Given the description of an element on the screen output the (x, y) to click on. 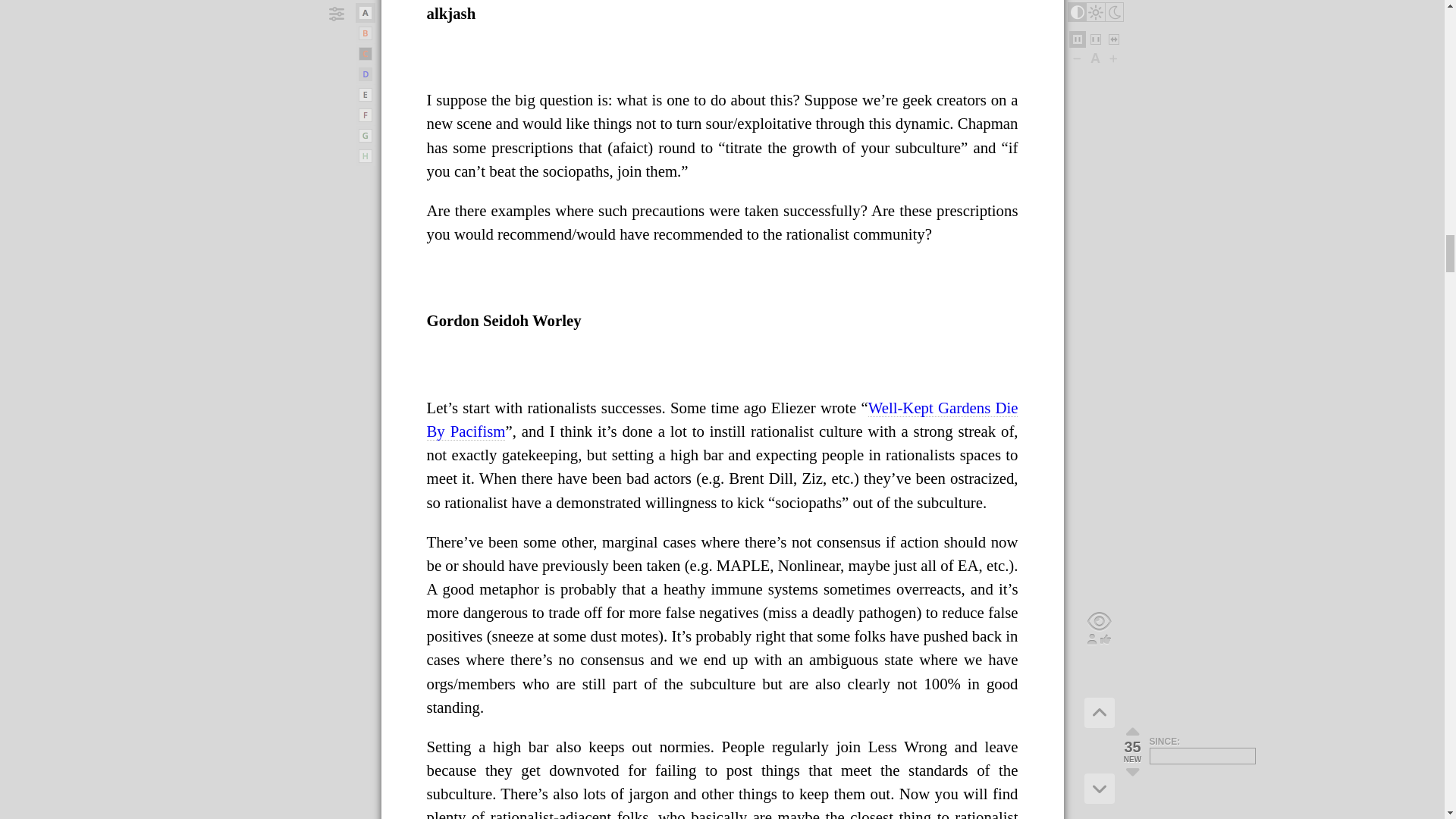
Well-Kept Gardens Die By Pacifism (721, 419)
